Given the description of an element on the screen output the (x, y) to click on. 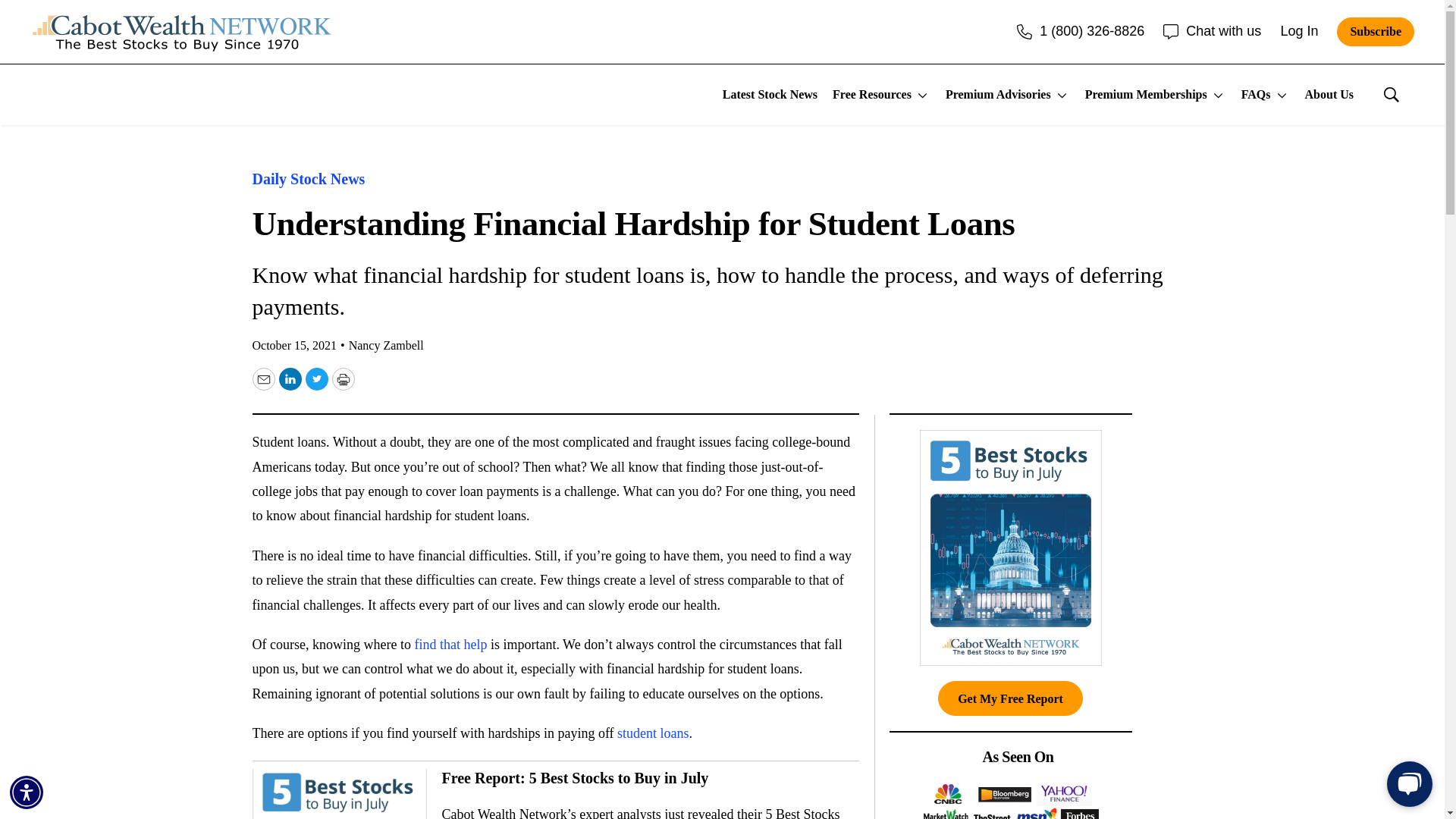
Accessibility Menu (26, 792)
Chat with us (1211, 30)
Log In (1298, 30)
Subscribe (1374, 31)
